Given the description of an element on the screen output the (x, y) to click on. 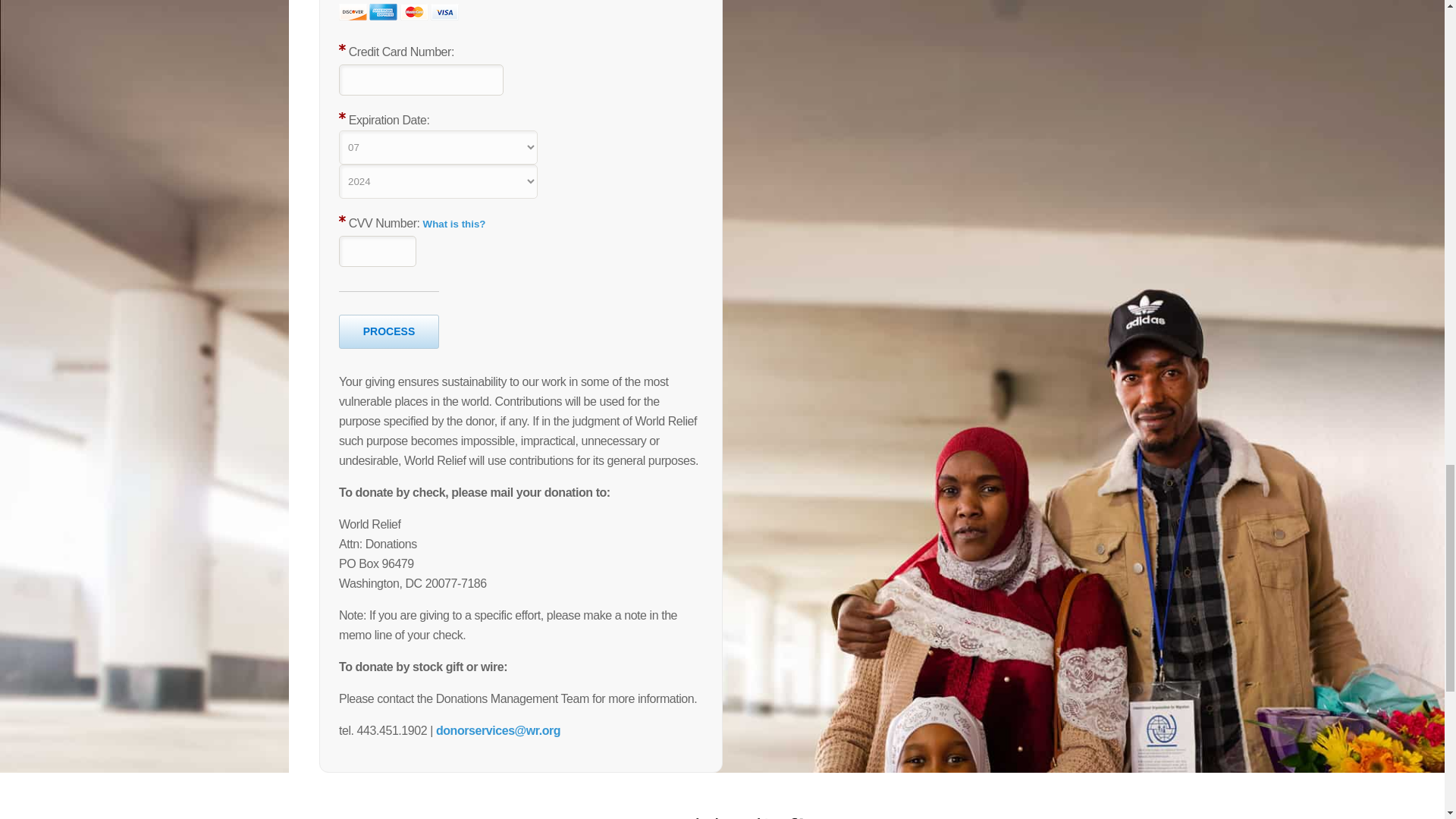
What is this? (454, 224)
What is this? Opens new window. (454, 224)
PROCESS (389, 331)
